Given the description of an element on the screen output the (x, y) to click on. 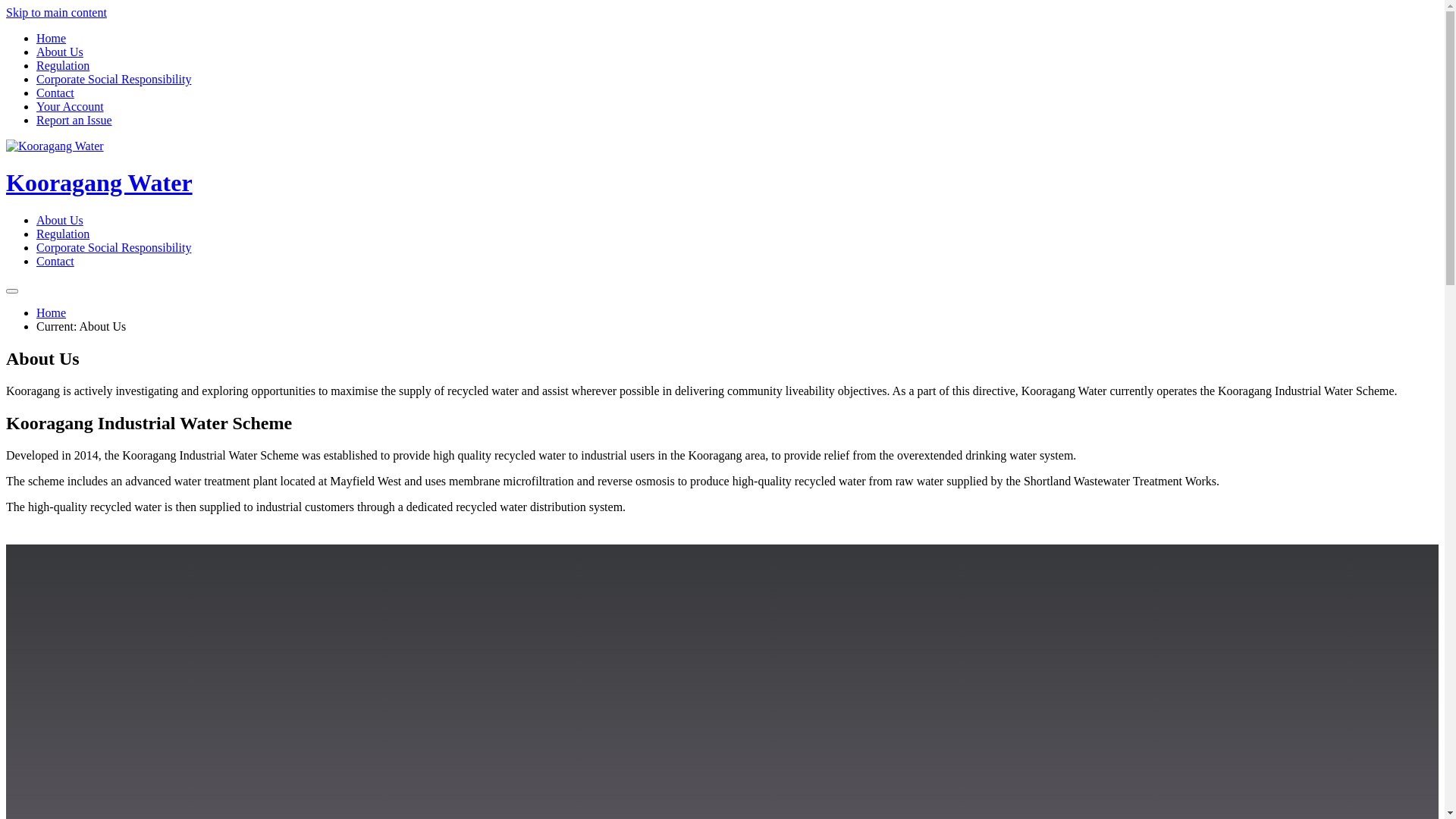
Corporate Social Responsibility Element type: text (113, 78)
Skip to main content Element type: text (56, 12)
Kooragang Water Element type: text (722, 168)
About Us Element type: text (59, 219)
Regulation Element type: text (62, 233)
Regulation Element type: text (62, 65)
Contact Element type: text (55, 260)
Contact Element type: text (55, 92)
Home Element type: text (50, 37)
Corporate Social Responsibility Element type: text (113, 247)
Home Element type: text (50, 312)
Your Account Element type: text (69, 106)
About Us Element type: text (59, 51)
Report an Issue Element type: text (74, 119)
